Given the description of an element on the screen output the (x, y) to click on. 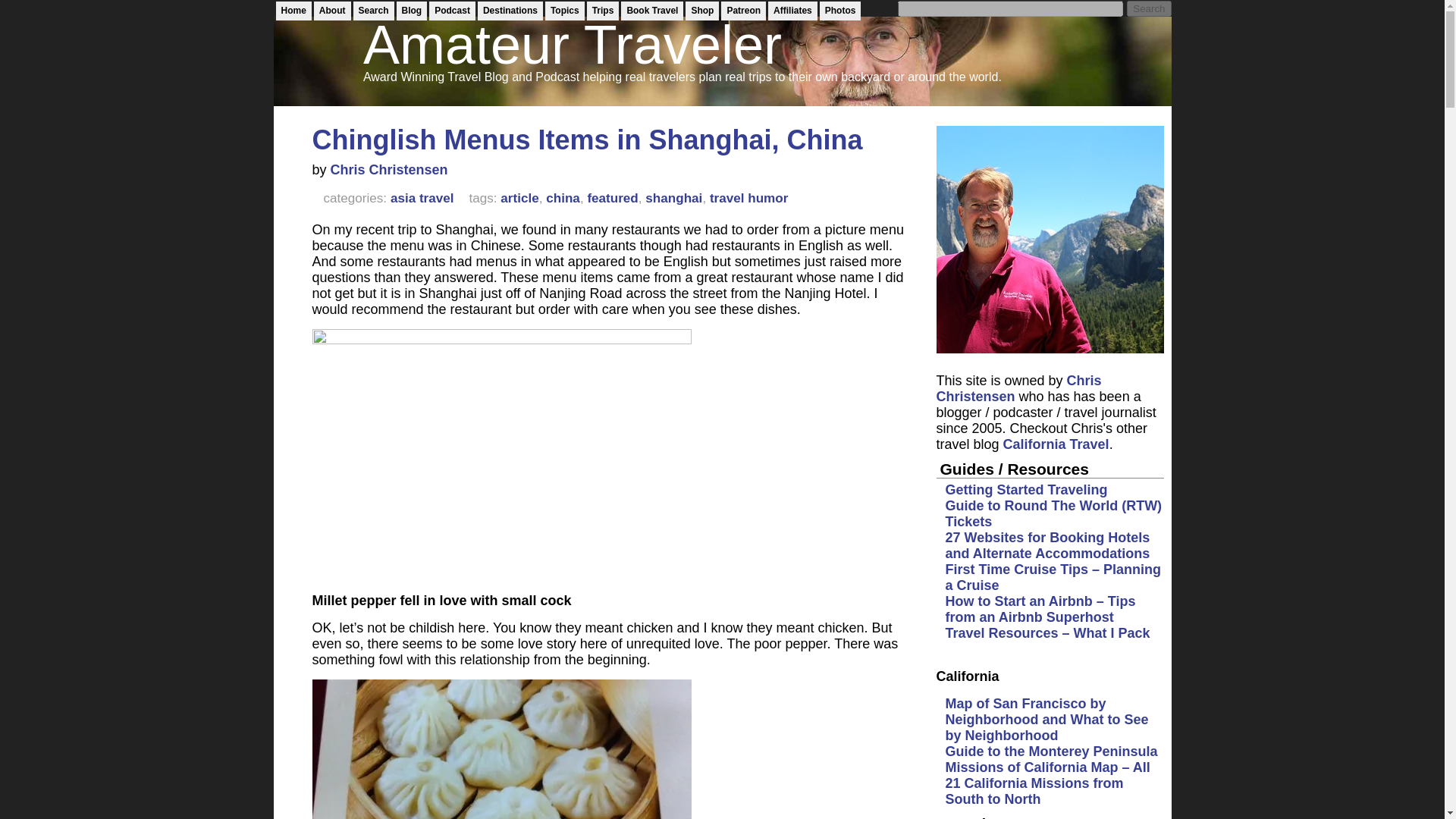
asia travel (422, 197)
Search (1148, 8)
article (519, 197)
shanghai (673, 197)
Chinglish Menus Items in Shanghai, China (588, 139)
travel humor (749, 197)
Chris Christensen (389, 169)
featured (611, 197)
china (562, 197)
Permanent Link to Chinglish Menus Items in Shanghai, China (588, 139)
